Given the description of an element on the screen output the (x, y) to click on. 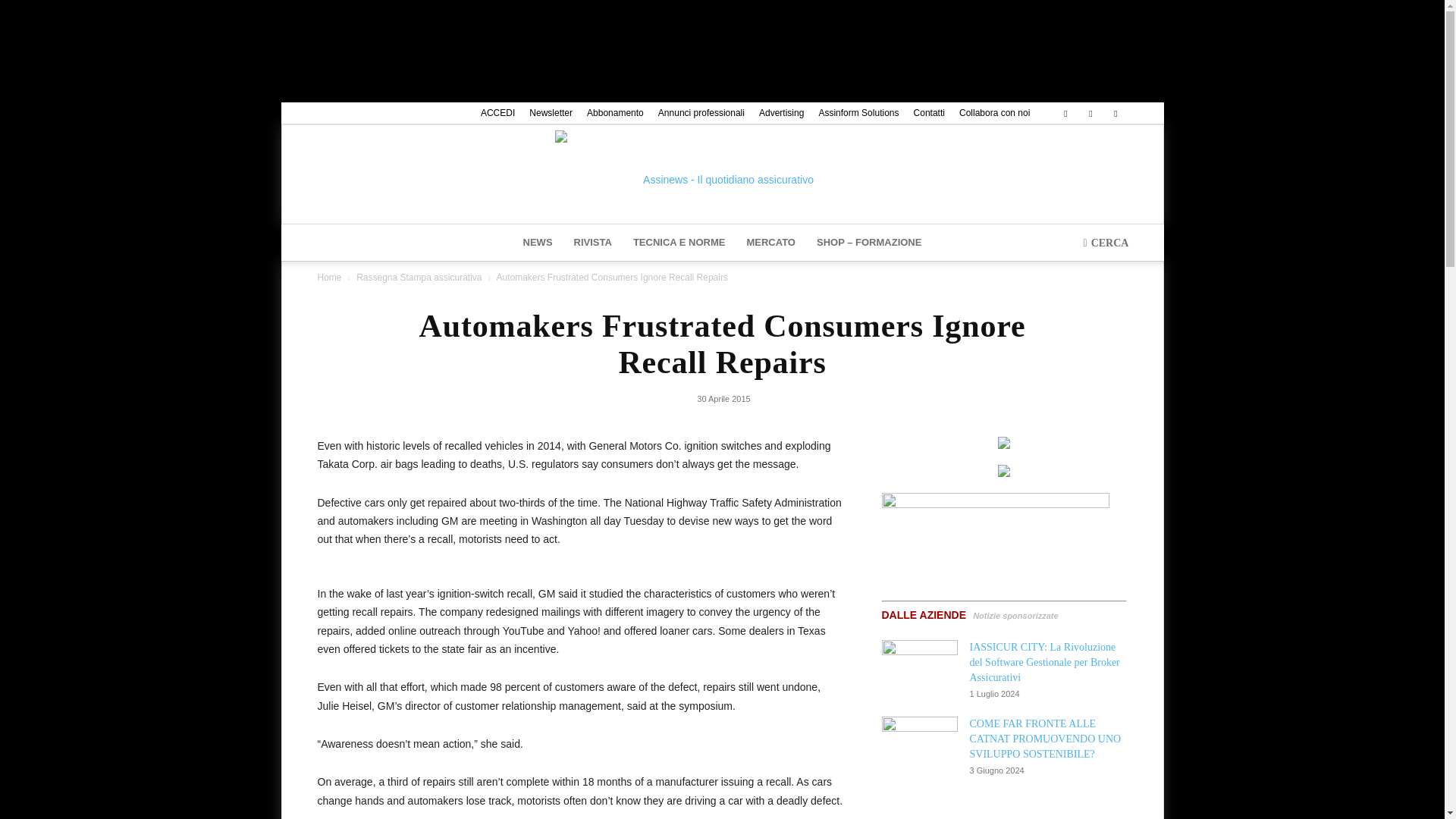
Assinews - Il quotidiano assicurativo (721, 175)
View all posts in Rassegna Stampa assicurativa (418, 276)
Facebook (1065, 112)
ACCEDI (497, 112)
Twitter (1114, 112)
Linkedin (1090, 112)
